Given the description of an element on the screen output the (x, y) to click on. 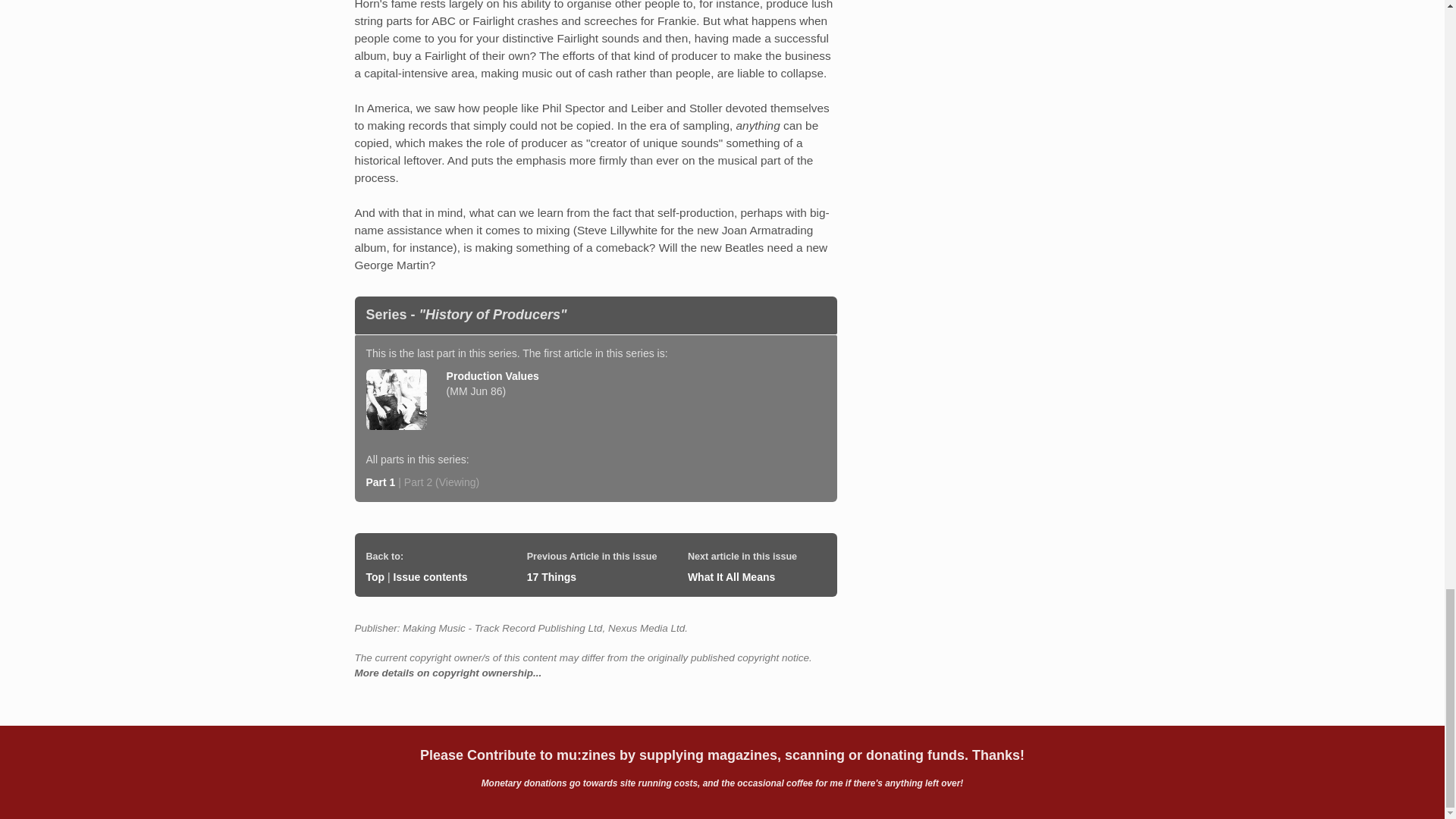
17 Things (551, 576)
Part 1 (379, 481)
Top (374, 576)
Production Values (492, 376)
More details on copyright ownership... (448, 672)
What It All Means (730, 576)
Issue contents (430, 576)
